Given the description of an element on the screen output the (x, y) to click on. 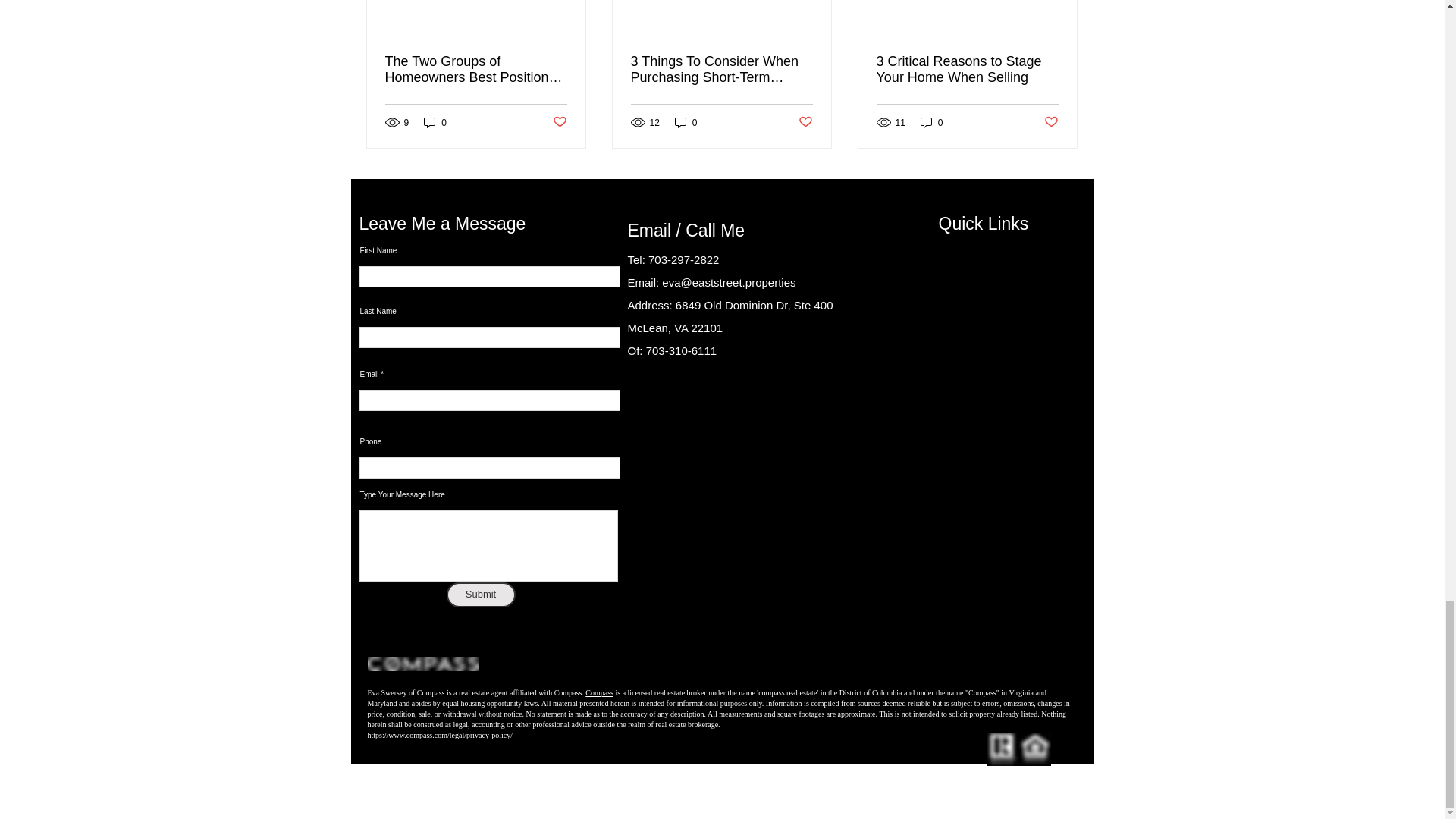
0 (931, 122)
Post not marked as liked (804, 122)
3 Critical Reasons to Stage Your Home When Selling (967, 69)
0 (685, 122)
Post not marked as liked (558, 122)
Post not marked as liked (1050, 122)
0 (435, 122)
